Given the description of an element on the screen output the (x, y) to click on. 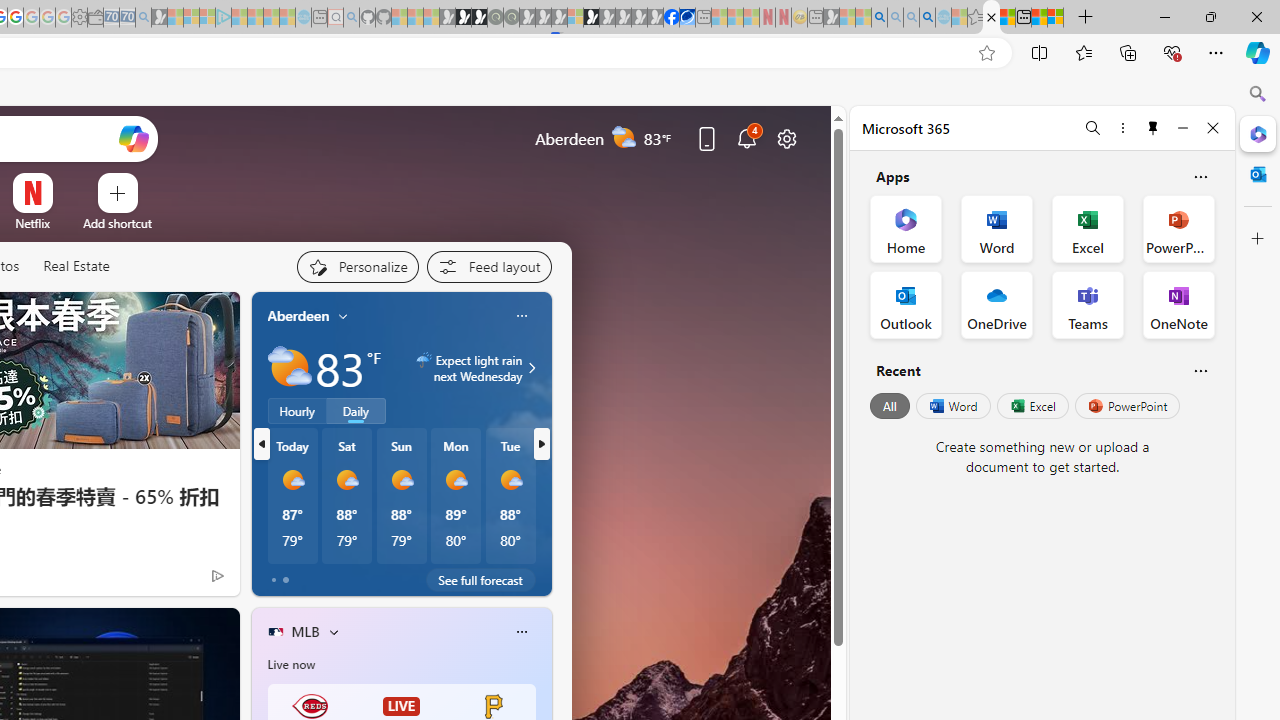
Aberdeen, Hong Kong SAR weather forecast | Microsoft Weather (1007, 17)
Excel Office App (1087, 228)
Aberdeen (298, 315)
Bing Real Estate - Home sales and rental listings - Sleeping (143, 17)
Partly sunny (289, 368)
Home Office App (906, 228)
Real Estate (76, 265)
MLB (305, 631)
Close Microsoft 365 pane (1258, 133)
OneNote Office App (1178, 304)
Personalize your feed" (356, 266)
